Given the description of an element on the screen output the (x, y) to click on. 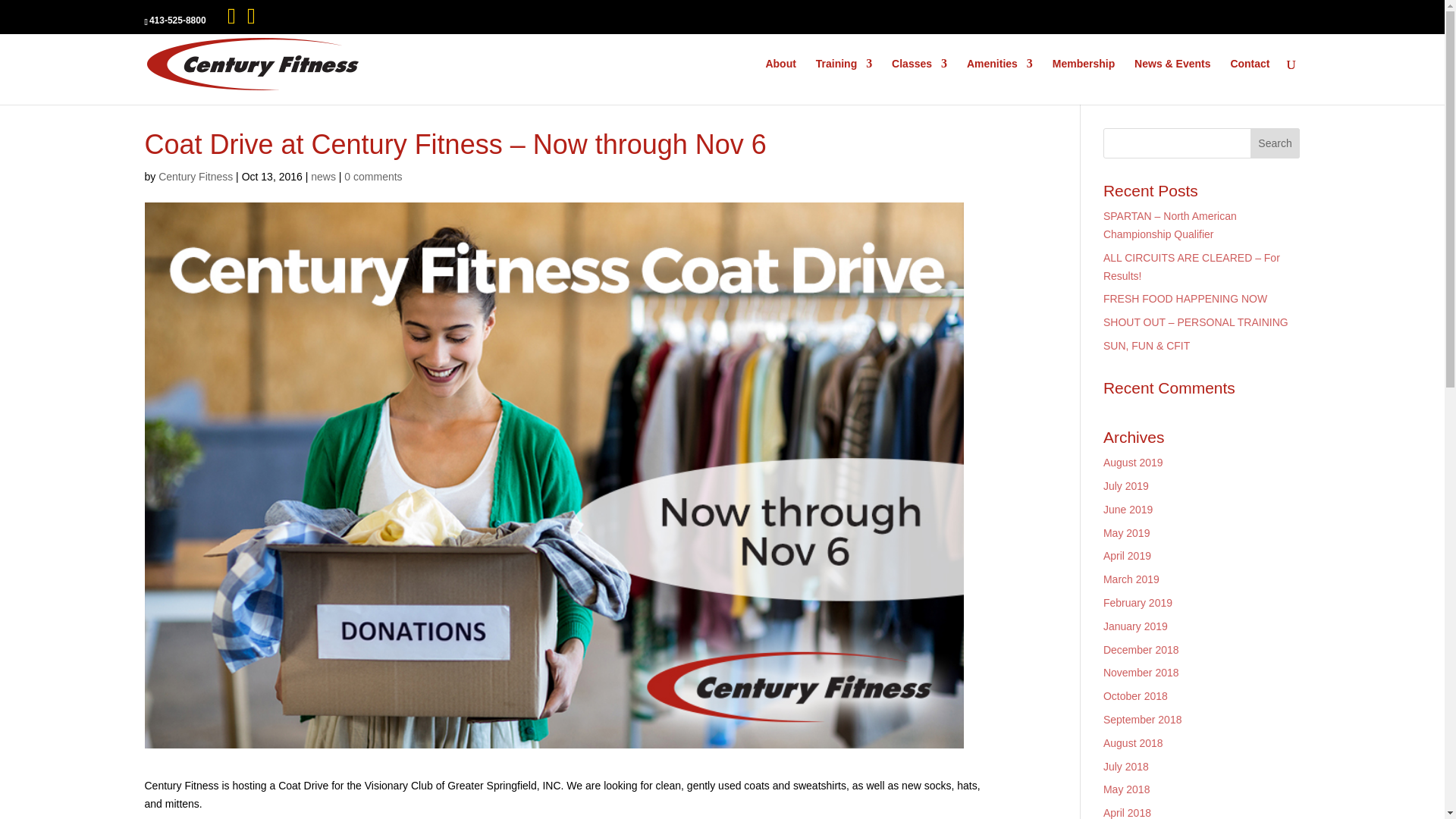
July 2019 (1125, 485)
Amenities (999, 81)
Training (843, 81)
May 2019 (1126, 532)
Membership (1083, 81)
Search (1275, 142)
FRESH FOOD HAPPENING NOW (1184, 298)
December 2018 (1141, 649)
February 2019 (1137, 603)
August 2019 (1133, 462)
0 comments (372, 176)
January 2019 (1135, 625)
Contact (1249, 81)
June 2019 (1128, 509)
Century Fitness (195, 176)
